Given the description of an element on the screen output the (x, y) to click on. 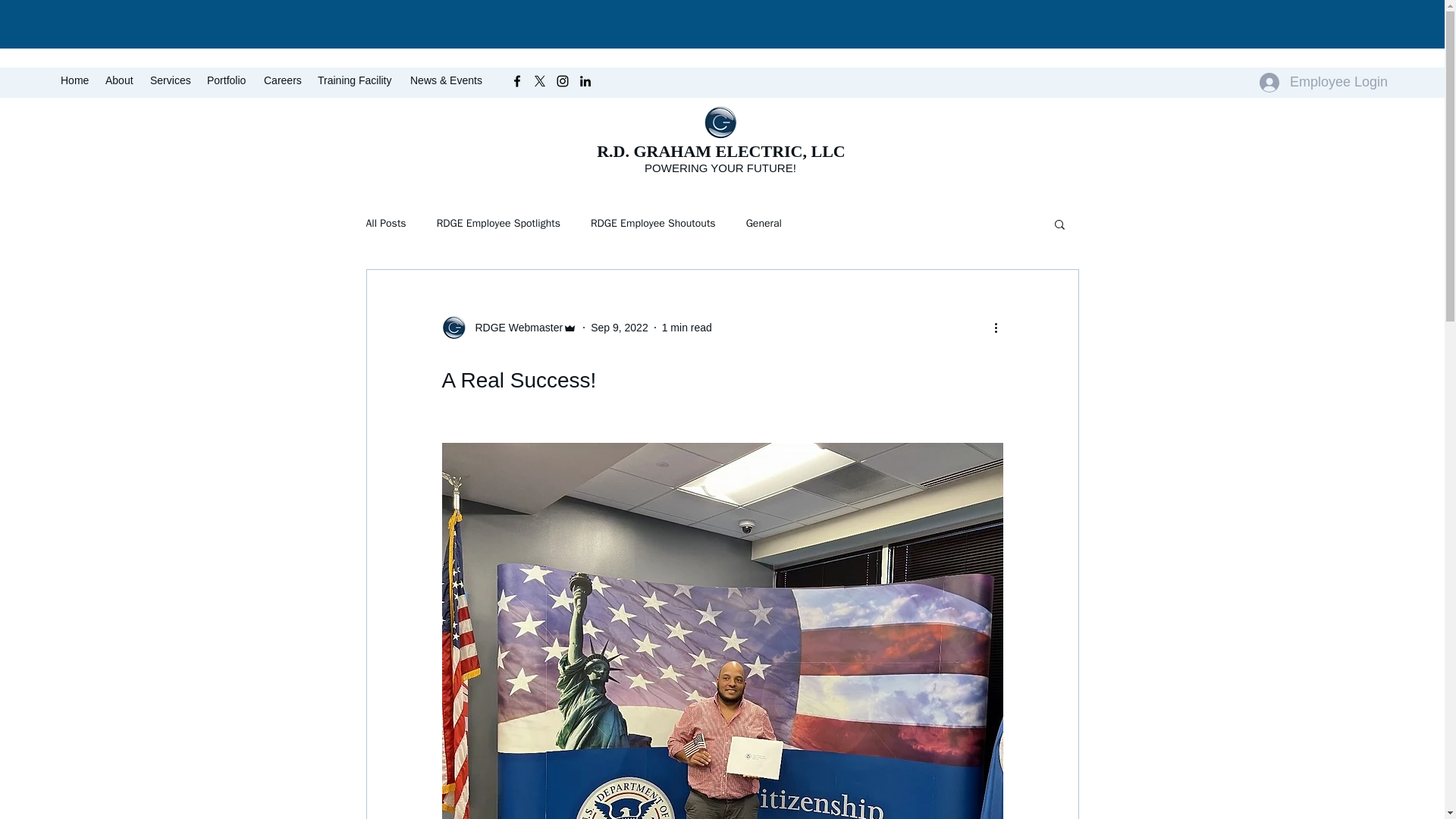
General (763, 223)
R.D. GRAHAM ELECTRIC, LLC (720, 150)
All Posts (385, 223)
Home (74, 79)
Training Facility (356, 79)
RDGE Webmaster (513, 327)
Services (170, 79)
Sep 9, 2022 (619, 327)
RDGE Employee Spotlights (498, 223)
RDGE Webmaster (508, 327)
